Given the description of an element on the screen output the (x, y) to click on. 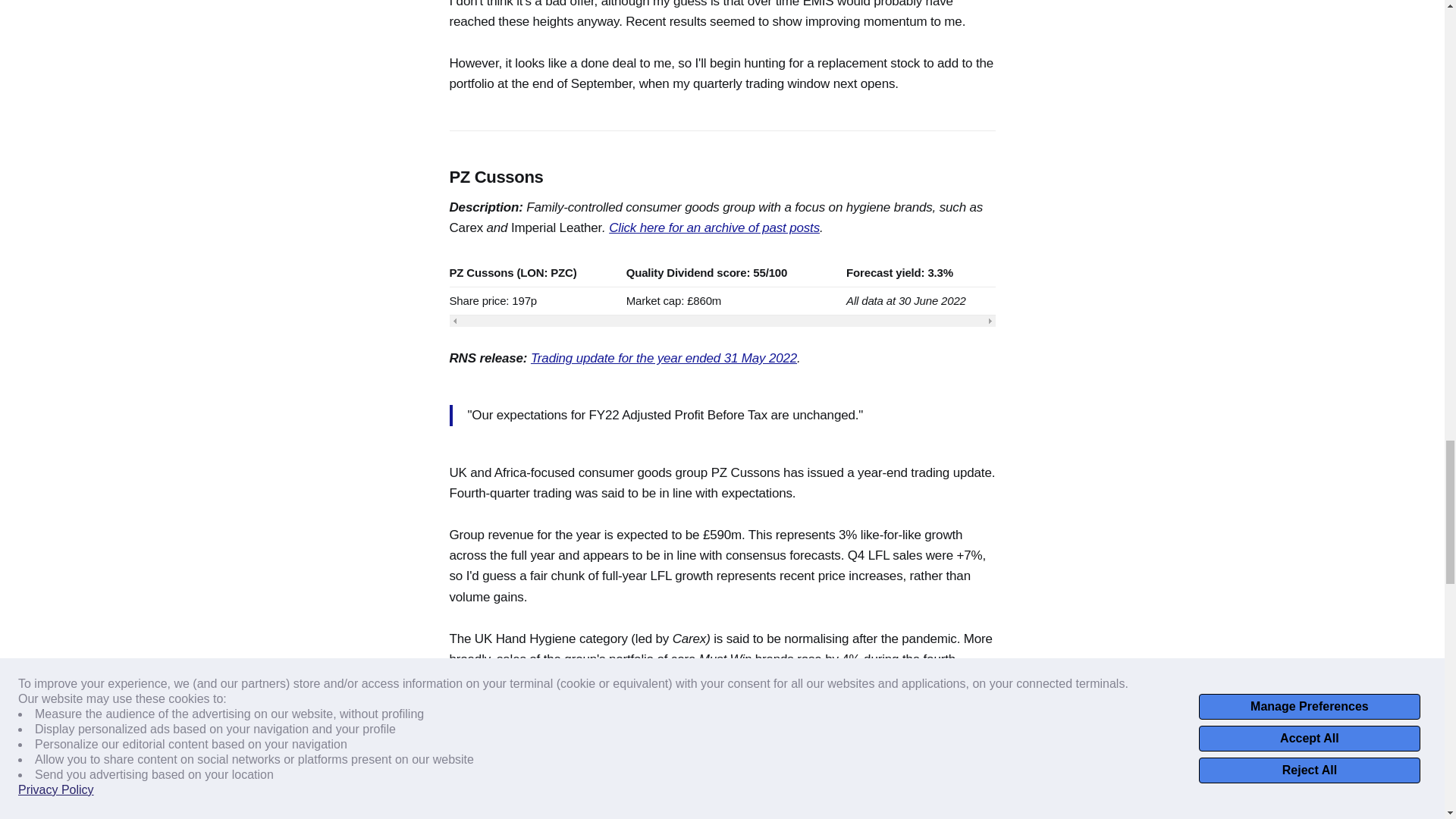
Trading update for the year ended 31 May 2022 (663, 358)
Click here for an archive of past posts (713, 227)
in more depth recently (645, 721)
